Given the description of an element on the screen output the (x, y) to click on. 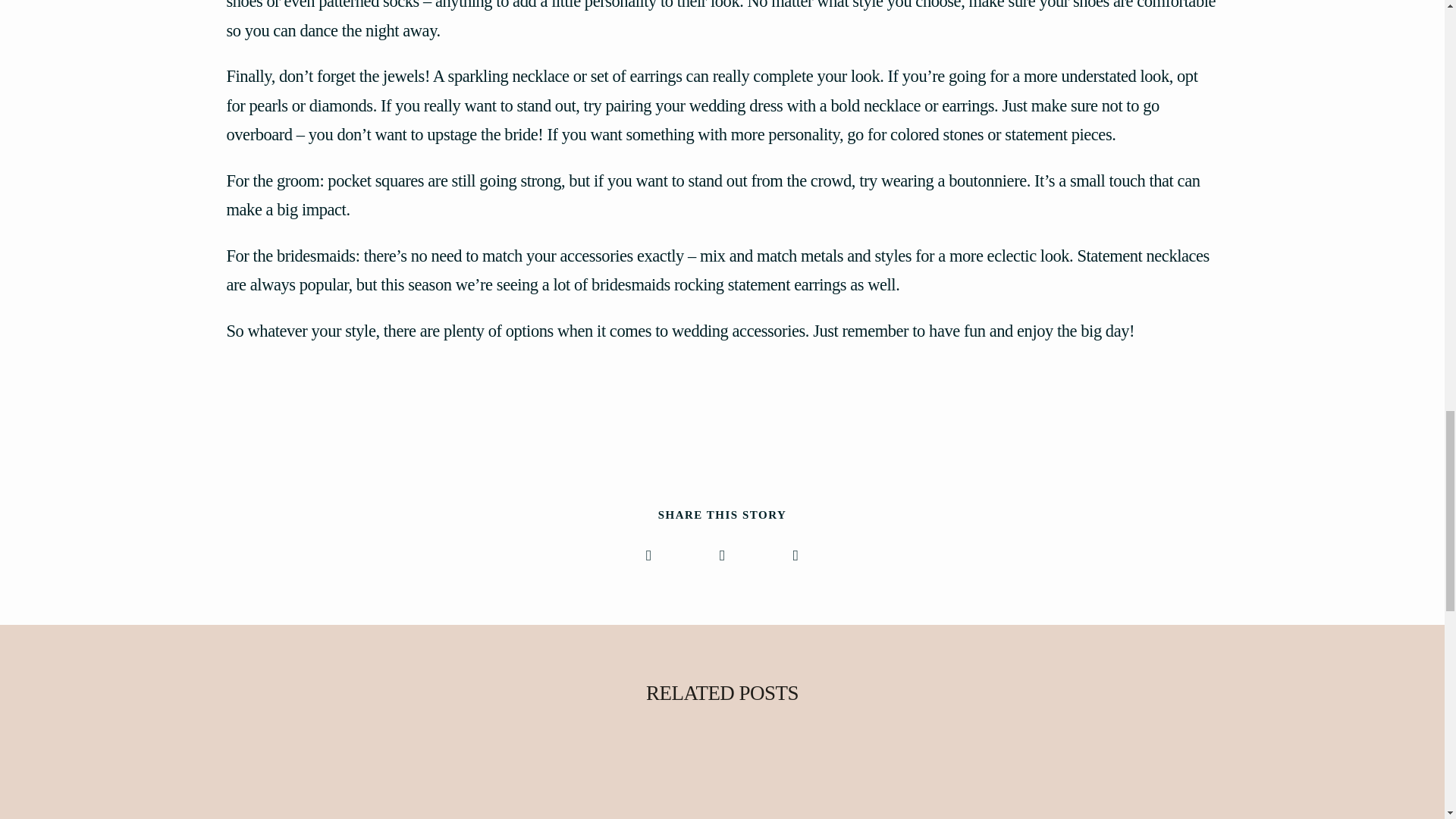
Wedding Shoe Ideas (722, 790)
9 Wedding Day Timeline Rules Every Couple Should Follow (309, 790)
Creative Ways to Include Your Kids in Engagement Photos (1136, 790)
